Given the description of an element on the screen output the (x, y) to click on. 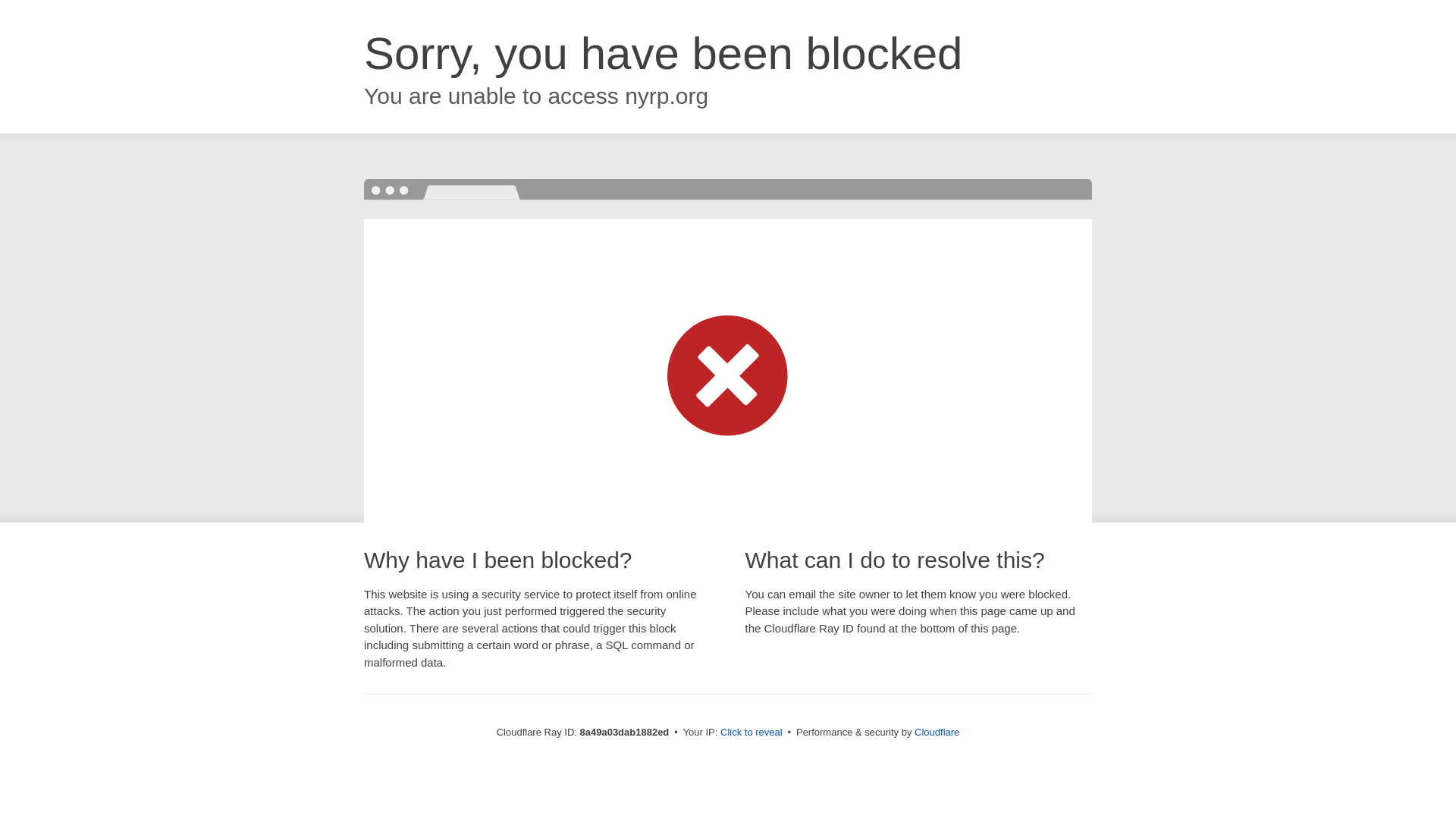
Cloudflare (936, 731)
Click to reveal (751, 732)
